Given the description of an element on the screen output the (x, y) to click on. 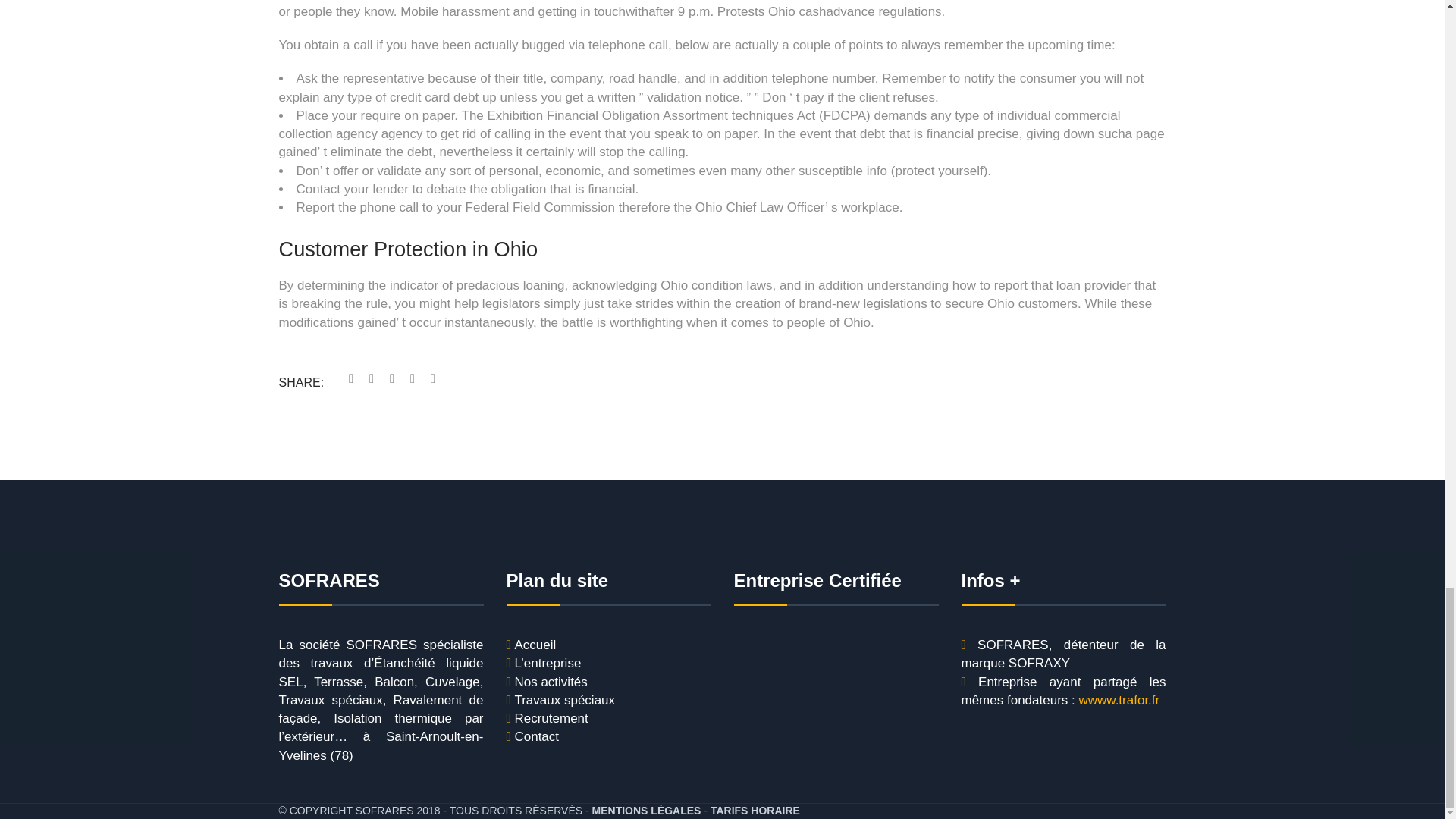
wwww.trafor.fr (1118, 700)
Recrutement (550, 719)
Accueil (534, 645)
Contact (536, 737)
